Given the description of an element on the screen output the (x, y) to click on. 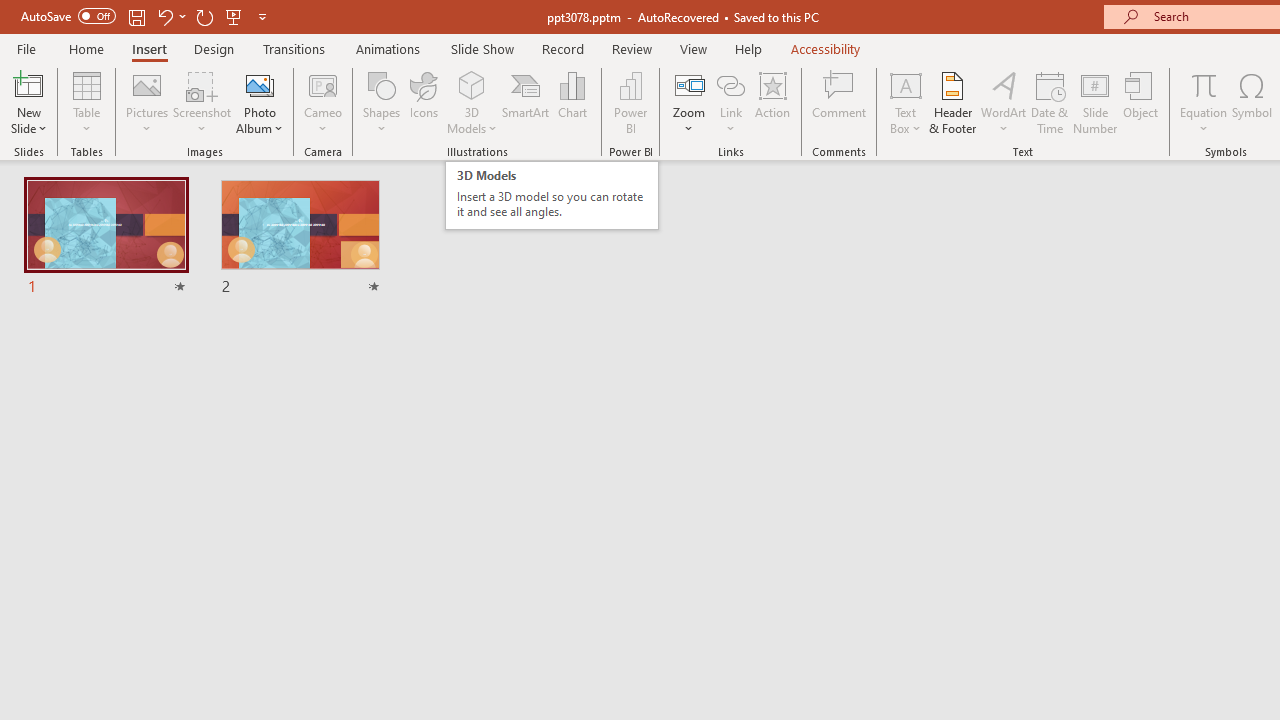
Date & Time... (1050, 102)
Screenshot (202, 102)
Header & Footer... (952, 102)
Action (772, 102)
Link (731, 102)
Photo Album... (259, 102)
Object... (1141, 102)
